Given the description of an element on the screen output the (x, y) to click on. 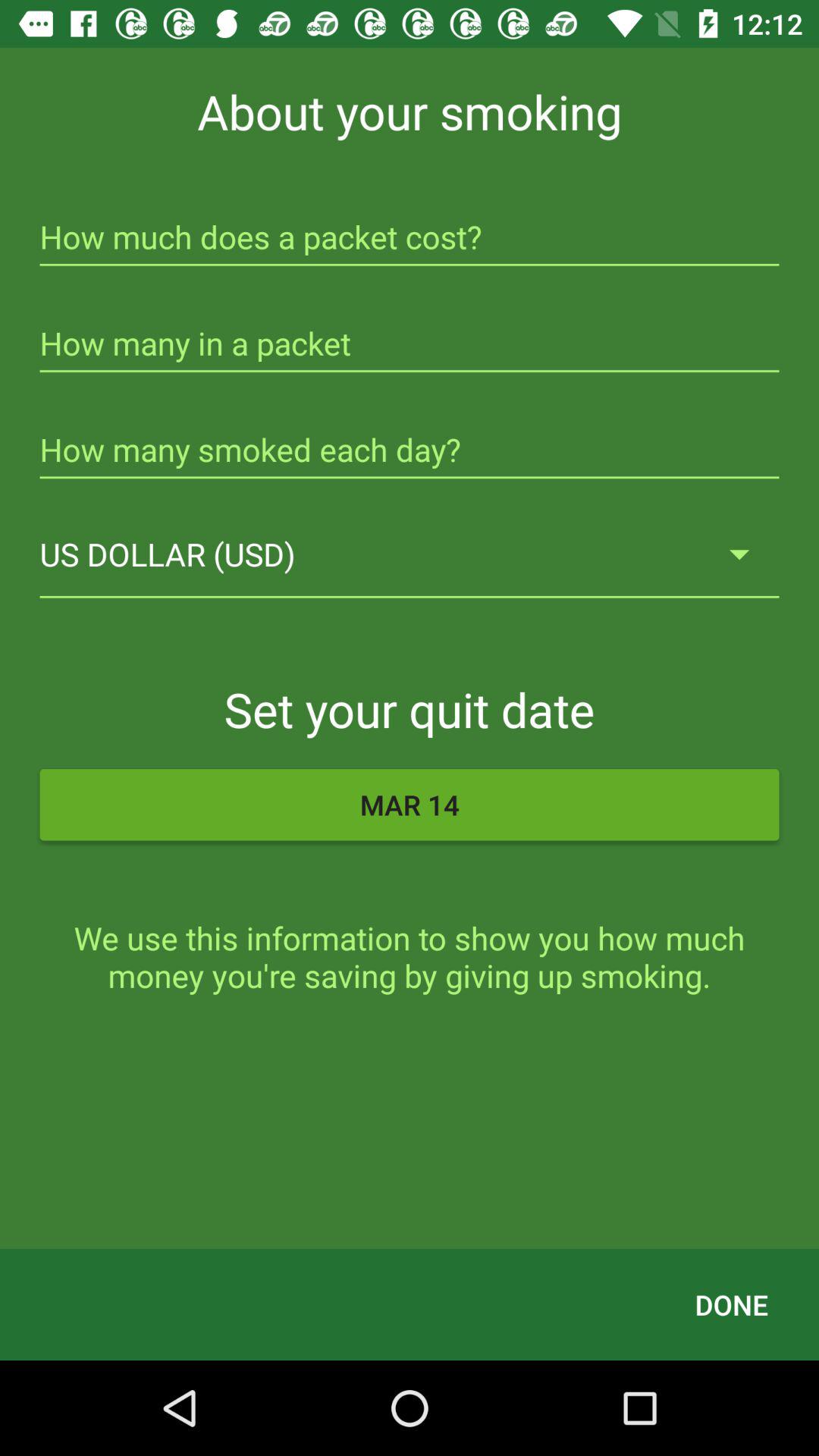
launch the mar 14 item (409, 804)
